Given the description of an element on the screen output the (x, y) to click on. 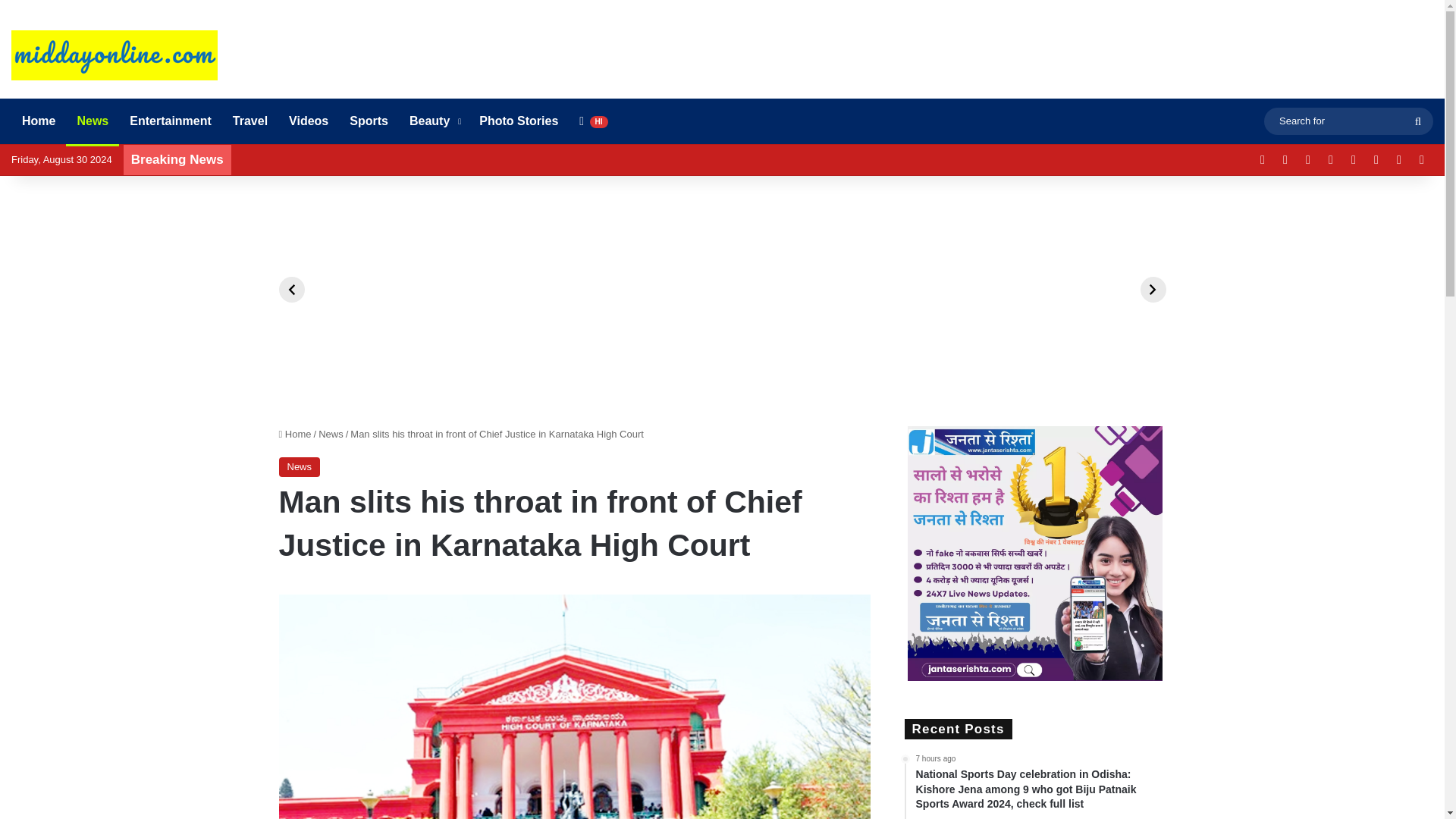
Search for (1347, 120)
Beauty (433, 121)
middayonline (113, 55)
Entertainment (170, 121)
HI (593, 121)
Sports (368, 121)
Search for (1417, 121)
Photo Stories (518, 121)
Videos (308, 121)
Home (38, 121)
